Given the description of an element on the screen output the (x, y) to click on. 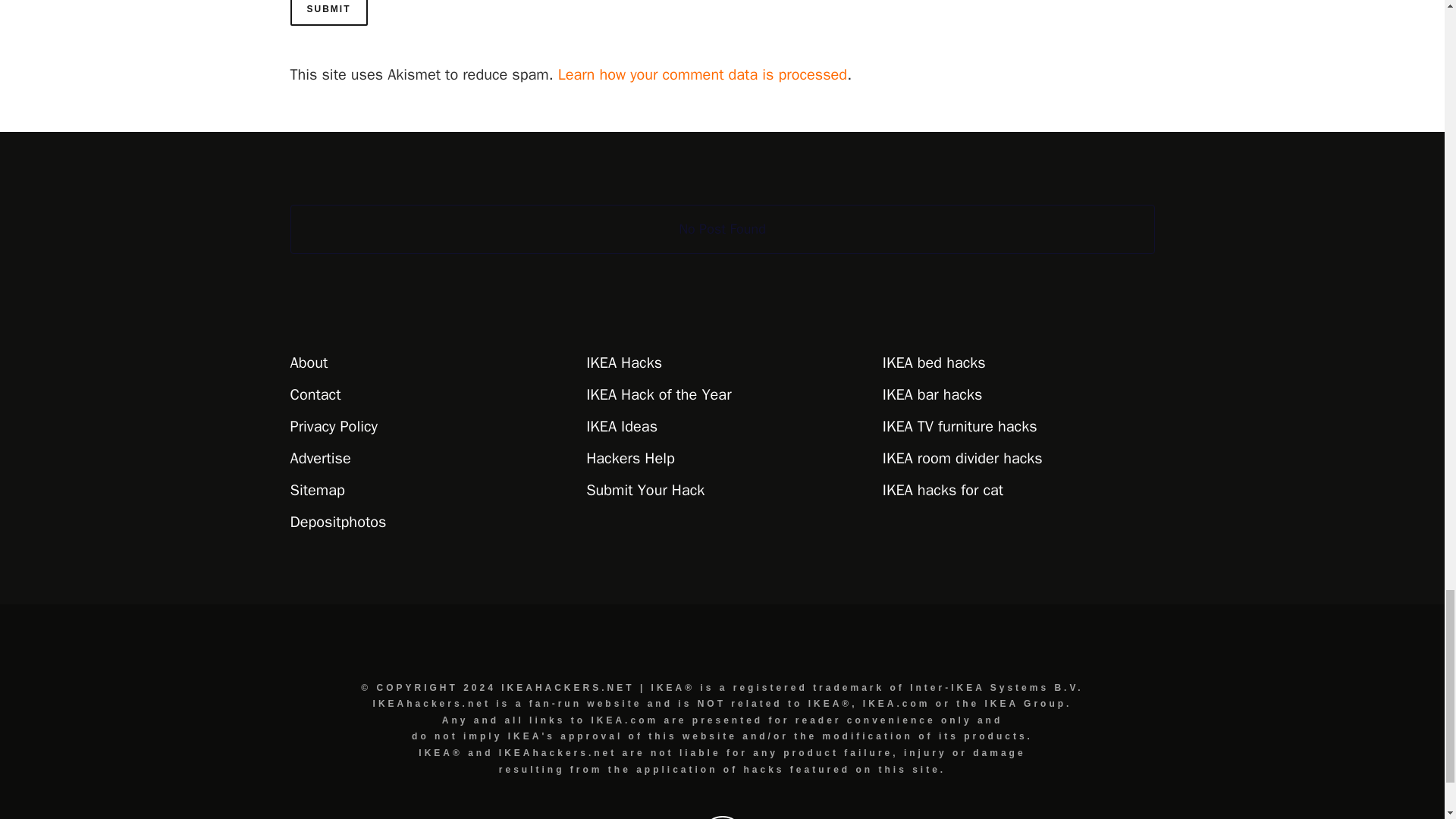
Submit (327, 12)
